Given the description of an element on the screen output the (x, y) to click on. 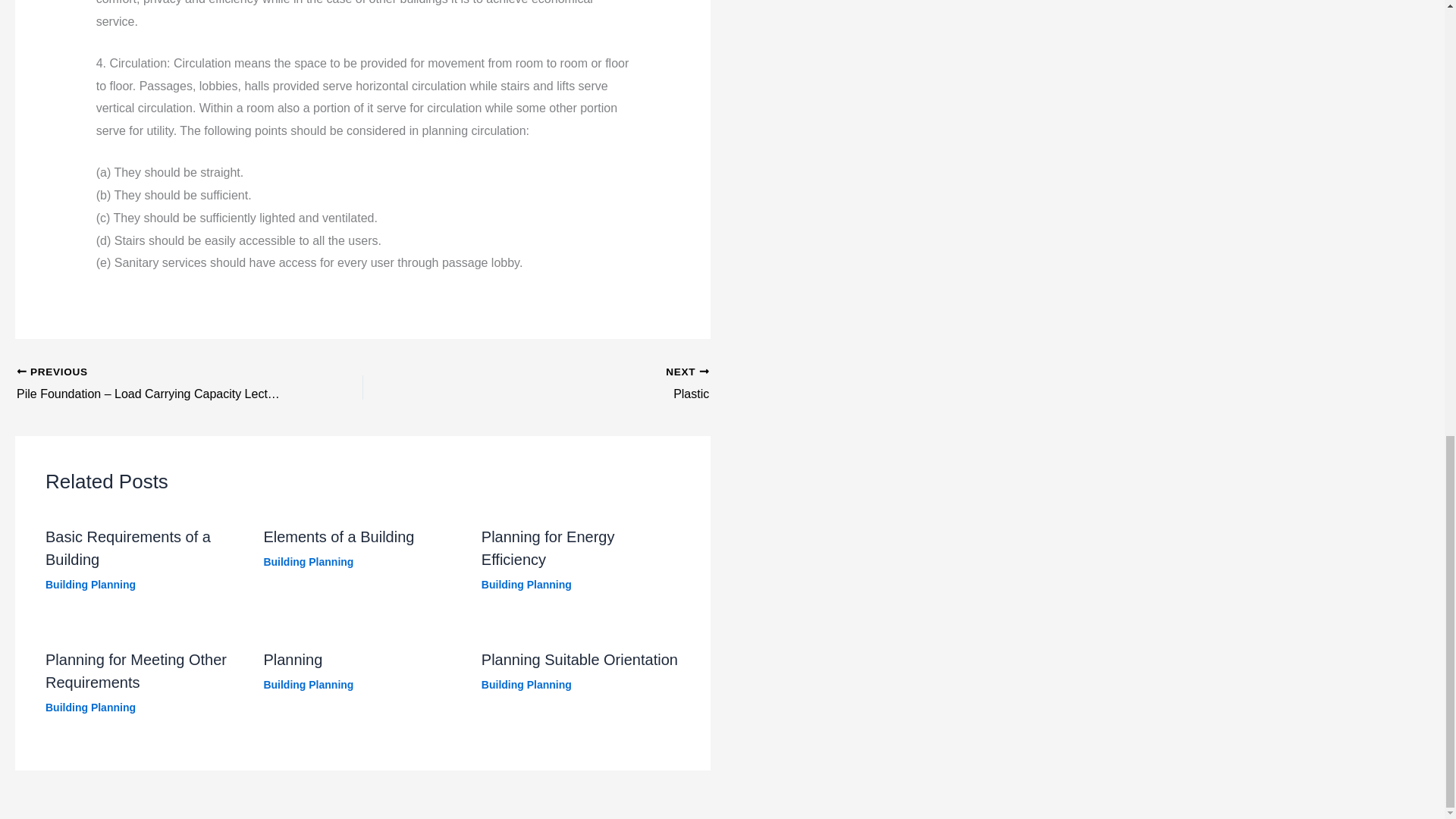
Plastic (569, 384)
Pile Foundation - Load Carrying Capacity Lecture Videos (155, 384)
